Given the description of an element on the screen output the (x, y) to click on. 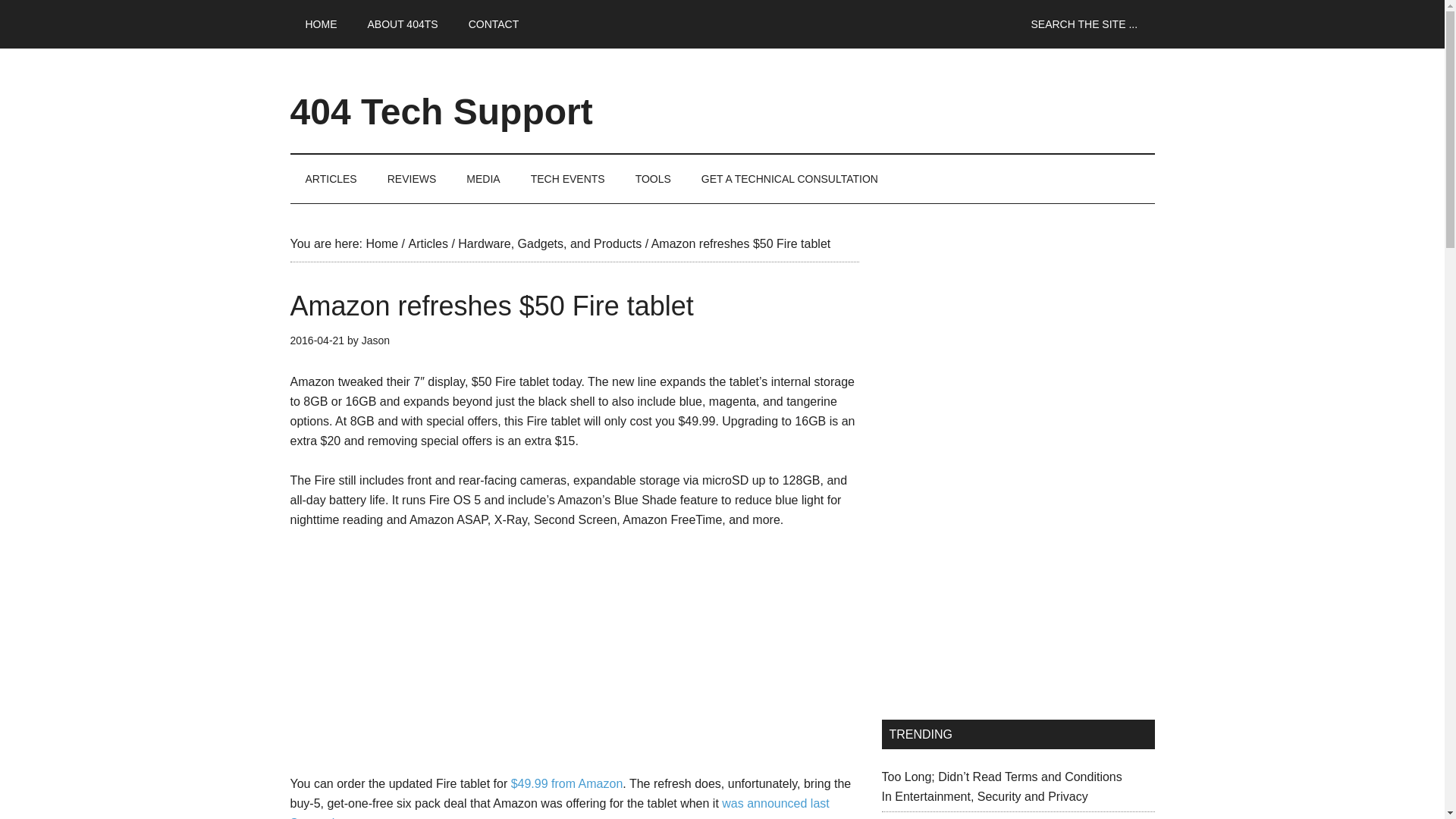
GET A TECHNICAL CONSULTATION (789, 178)
HOME (320, 24)
Hardware, Gadgets, and Products (550, 243)
Advertisement (573, 655)
404 Tech Support (440, 111)
Advertisement (1017, 582)
ARTICLES (330, 178)
CONTACT (493, 24)
TECH EVENTS (567, 178)
